Given the description of an element on the screen output the (x, y) to click on. 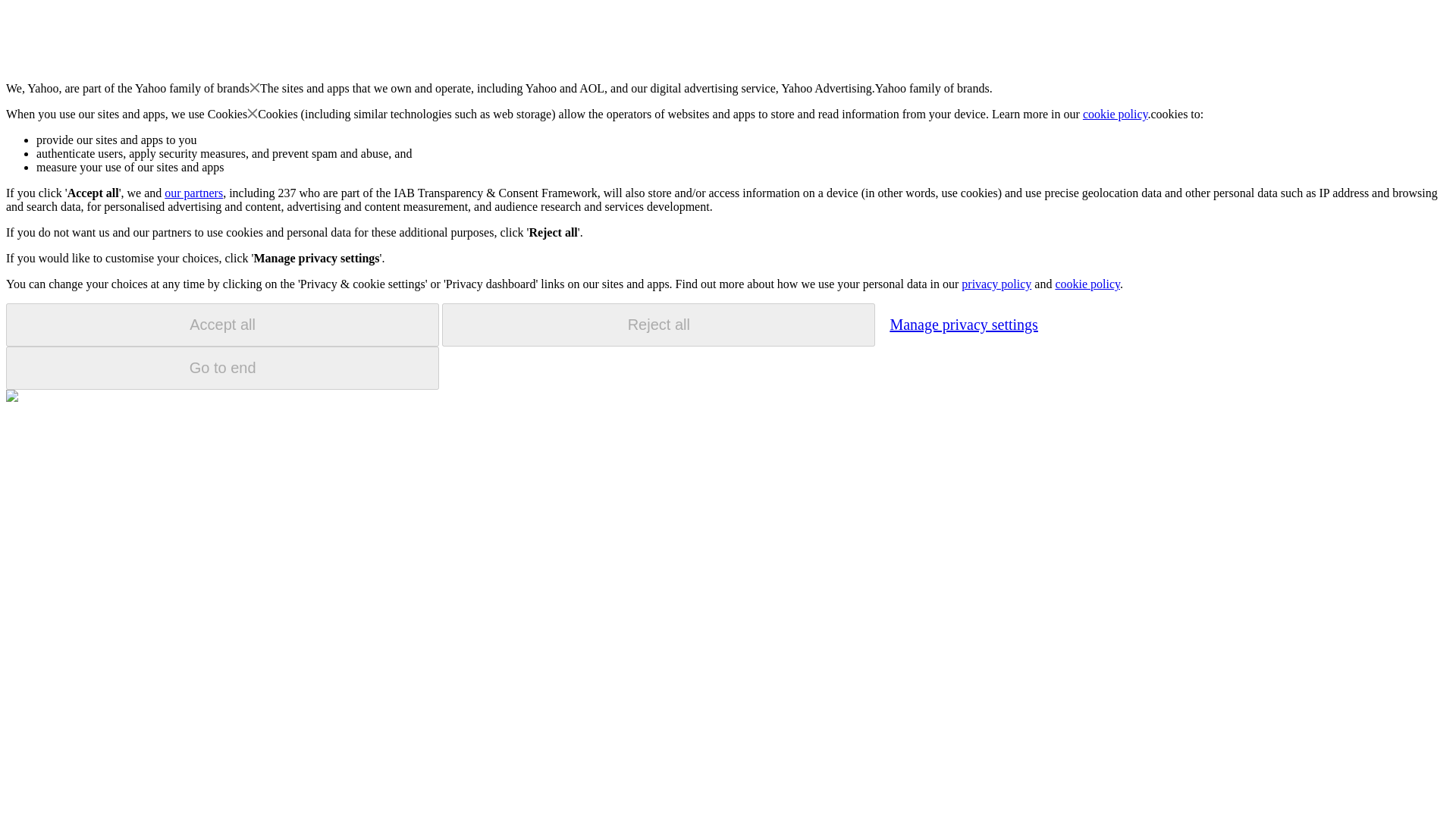
cookie policy (1115, 113)
Accept all (222, 324)
our partners (193, 192)
privacy policy (995, 283)
Manage privacy settings (963, 323)
cookie policy (1086, 283)
Reject all (658, 324)
Go to end (222, 367)
